Given the description of an element on the screen output the (x, y) to click on. 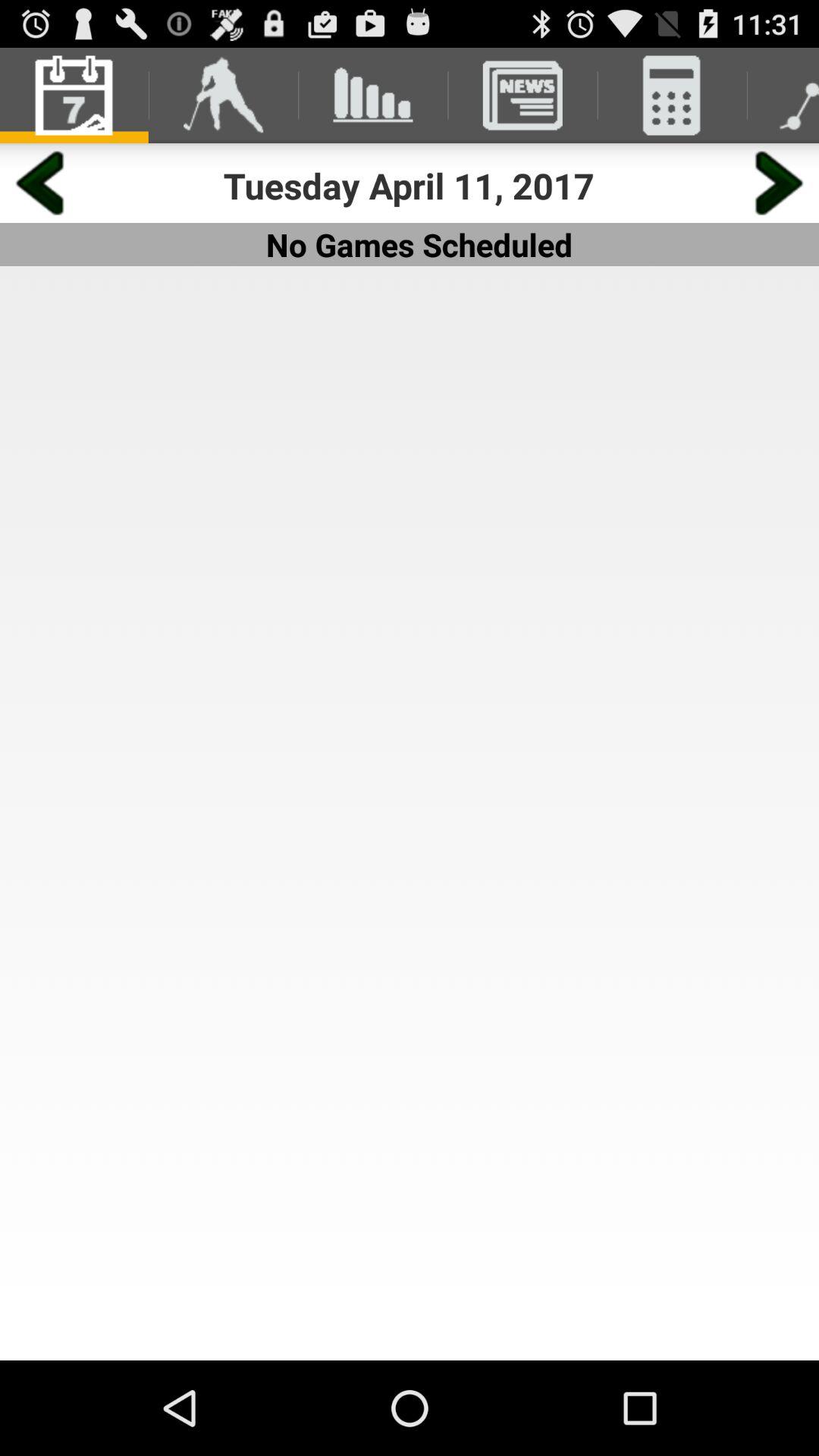
turn off the tuesday april 11 (408, 185)
